Given the description of an element on the screen output the (x, y) to click on. 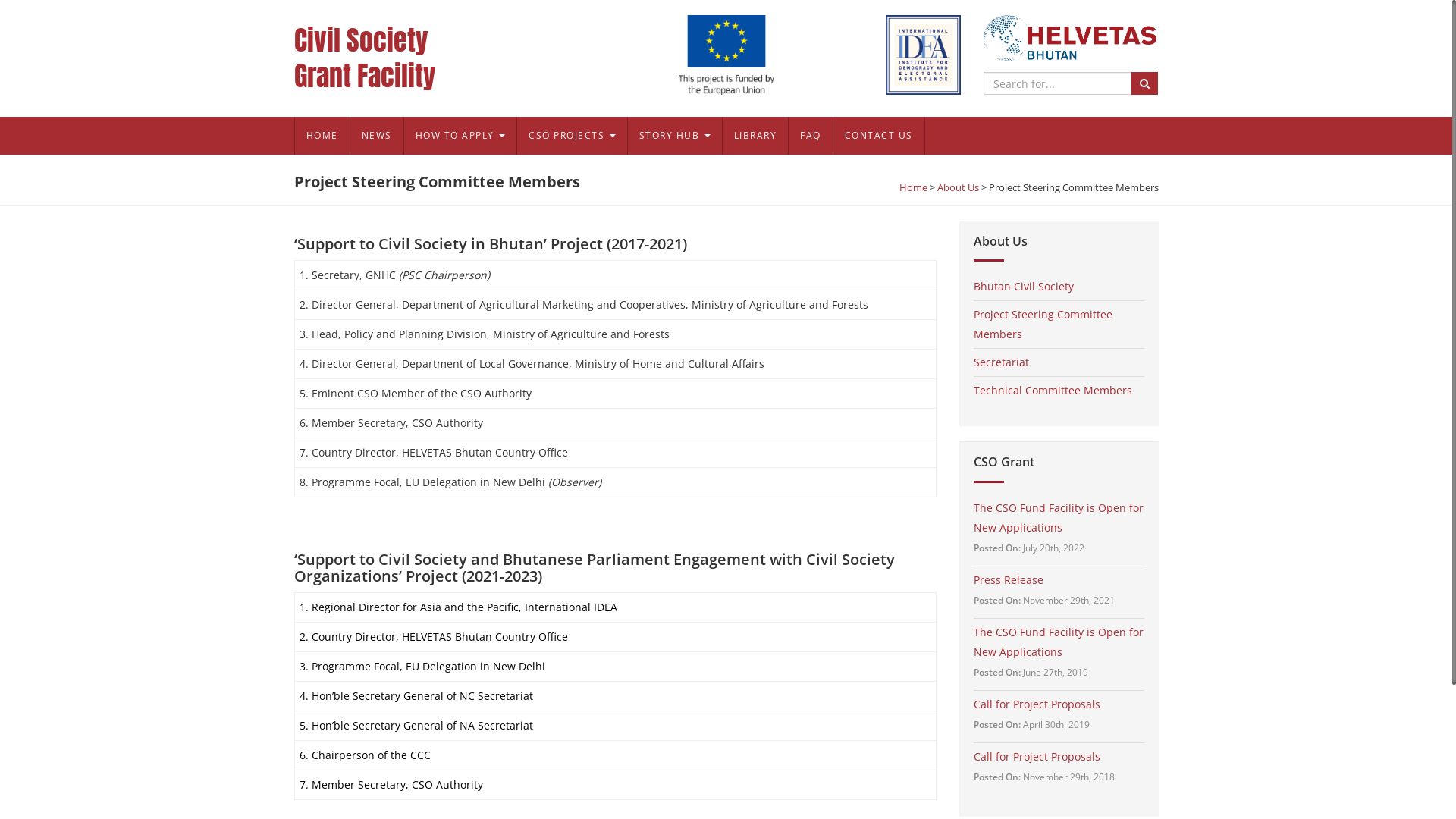
Press Release Element type: text (1008, 579)
LIBRARY Element type: text (754, 135)
The CSO Fund Facility is Open for New Applications Element type: text (1058, 517)
CONTACT US Element type: text (878, 135)
CSO PROJECTS Element type: text (571, 135)
Home Element type: text (913, 187)
NEWS Element type: text (375, 135)
Technical Committee Members Element type: text (1052, 389)
STORY HUB Element type: text (673, 135)
HOW TO APPLY Element type: text (460, 135)
Call for Project Proposals Element type: text (1036, 756)
Call for Project Proposals Element type: text (1036, 703)
Project Steering Committee Members Element type: text (1042, 324)
The CSO Fund Facility is Open for New Applications Element type: text (1058, 641)
HOME Element type: text (321, 135)
FAQ Element type: text (809, 135)
About Us Element type: text (958, 187)
Secretariat Element type: text (1001, 361)
Bhutan Civil Society Element type: text (1023, 286)
